Given the description of an element on the screen output the (x, y) to click on. 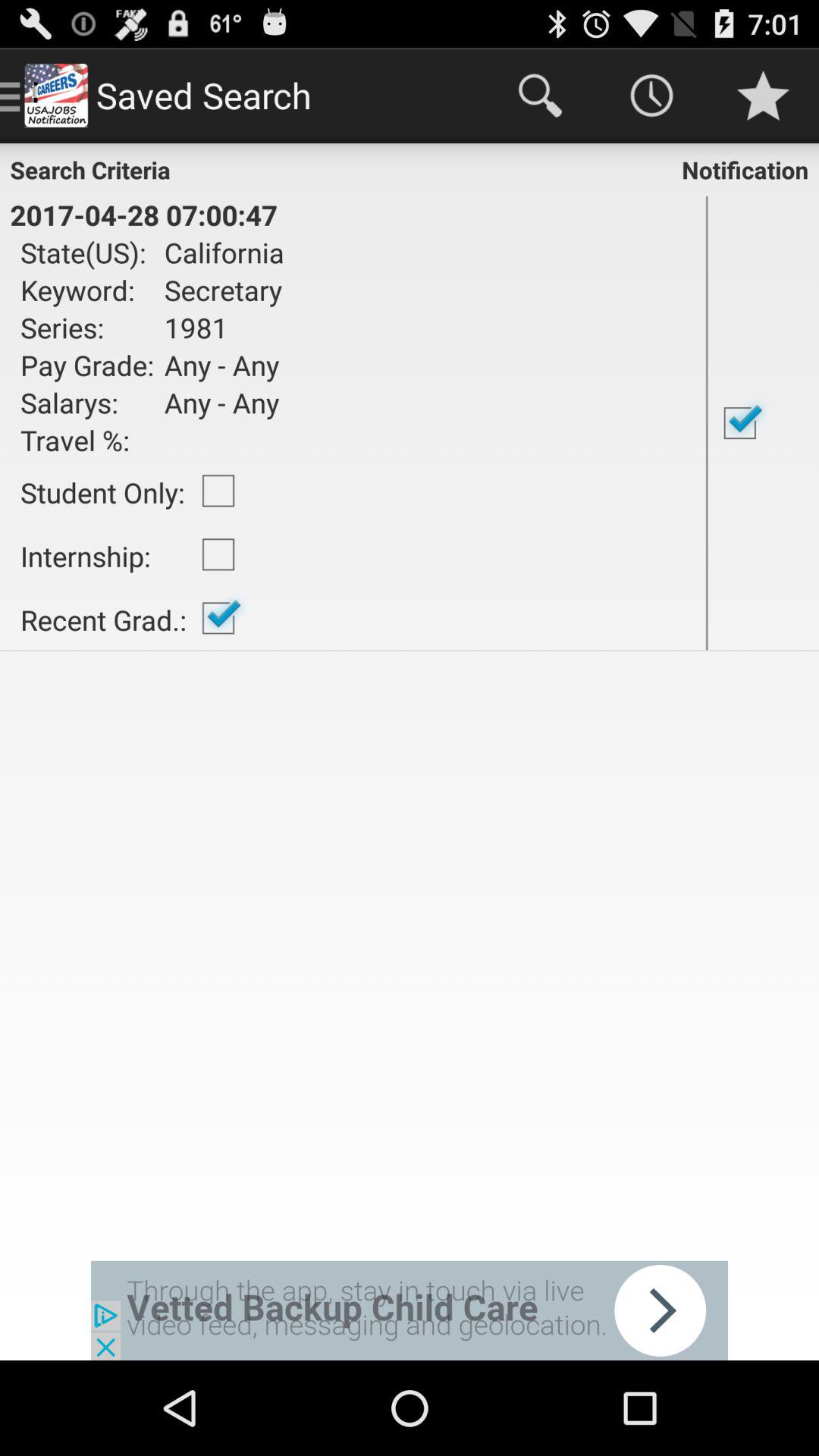
launch item to the right of the student only: (218, 490)
